Given the description of an element on the screen output the (x, y) to click on. 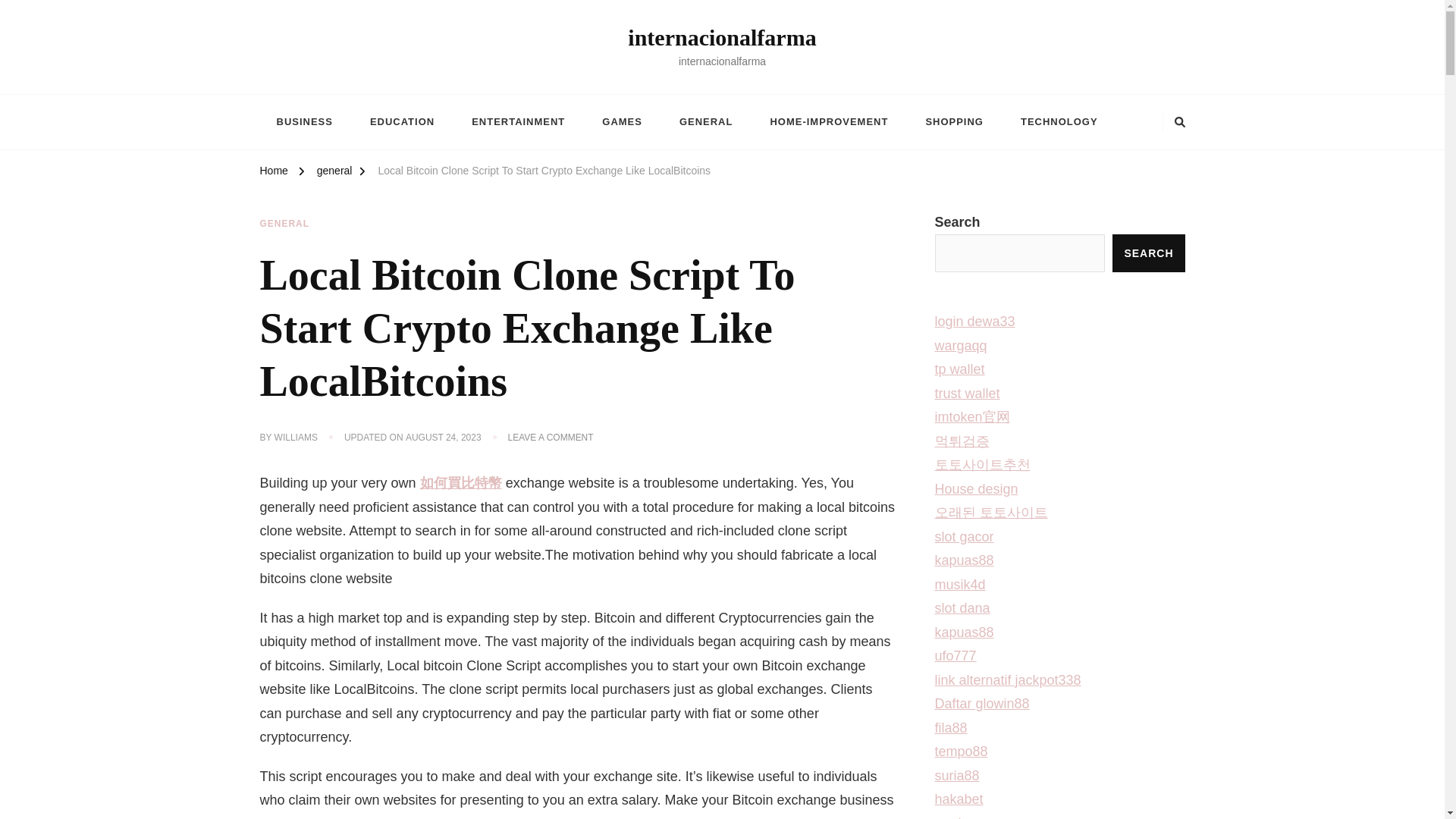
internacionalfarma (721, 37)
GENERAL (705, 121)
SHOPPING (954, 121)
Home (272, 172)
GENERAL (283, 223)
ENTERTAINMENT (517, 121)
HOME-IMPROVEMENT (828, 121)
TECHNOLOGY (1059, 121)
